Given the description of an element on the screen output the (x, y) to click on. 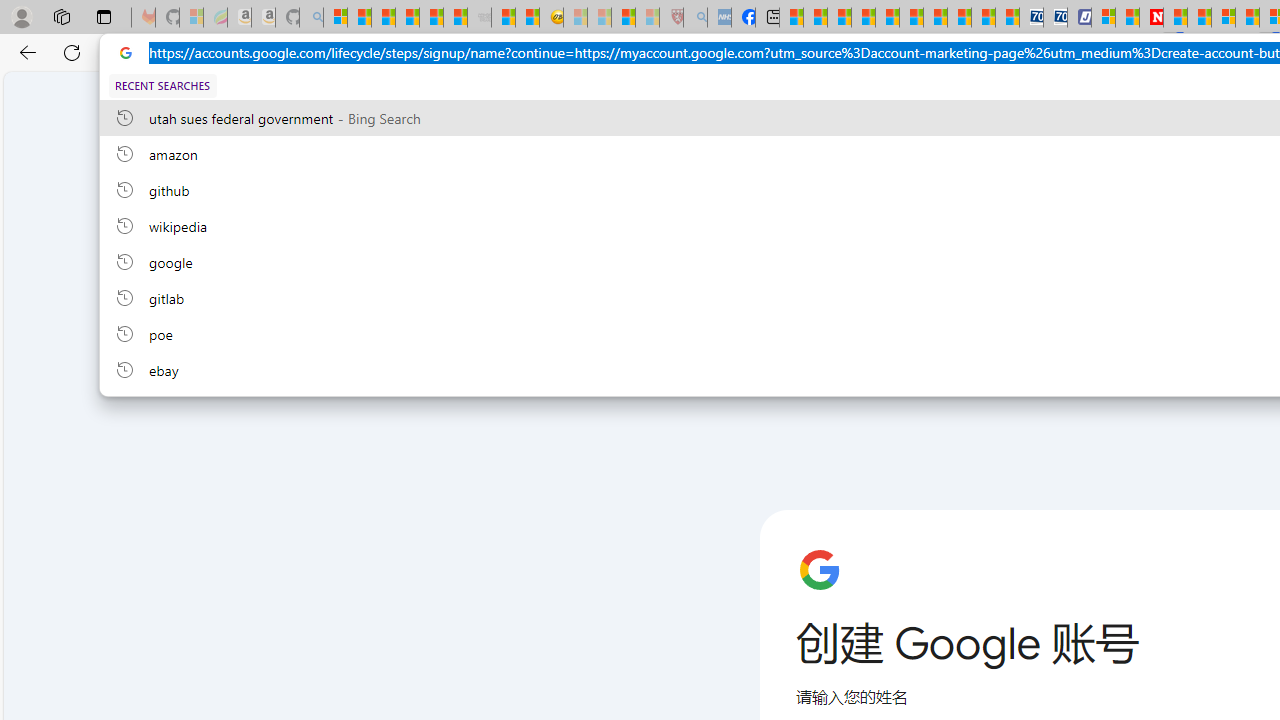
Climate Damage Becomes Too Severe To Reverse (863, 17)
Combat Siege - Sleeping (479, 17)
12 Popular Science Lies that Must be Corrected - Sleeping (647, 17)
